Given the description of an element on the screen output the (x, y) to click on. 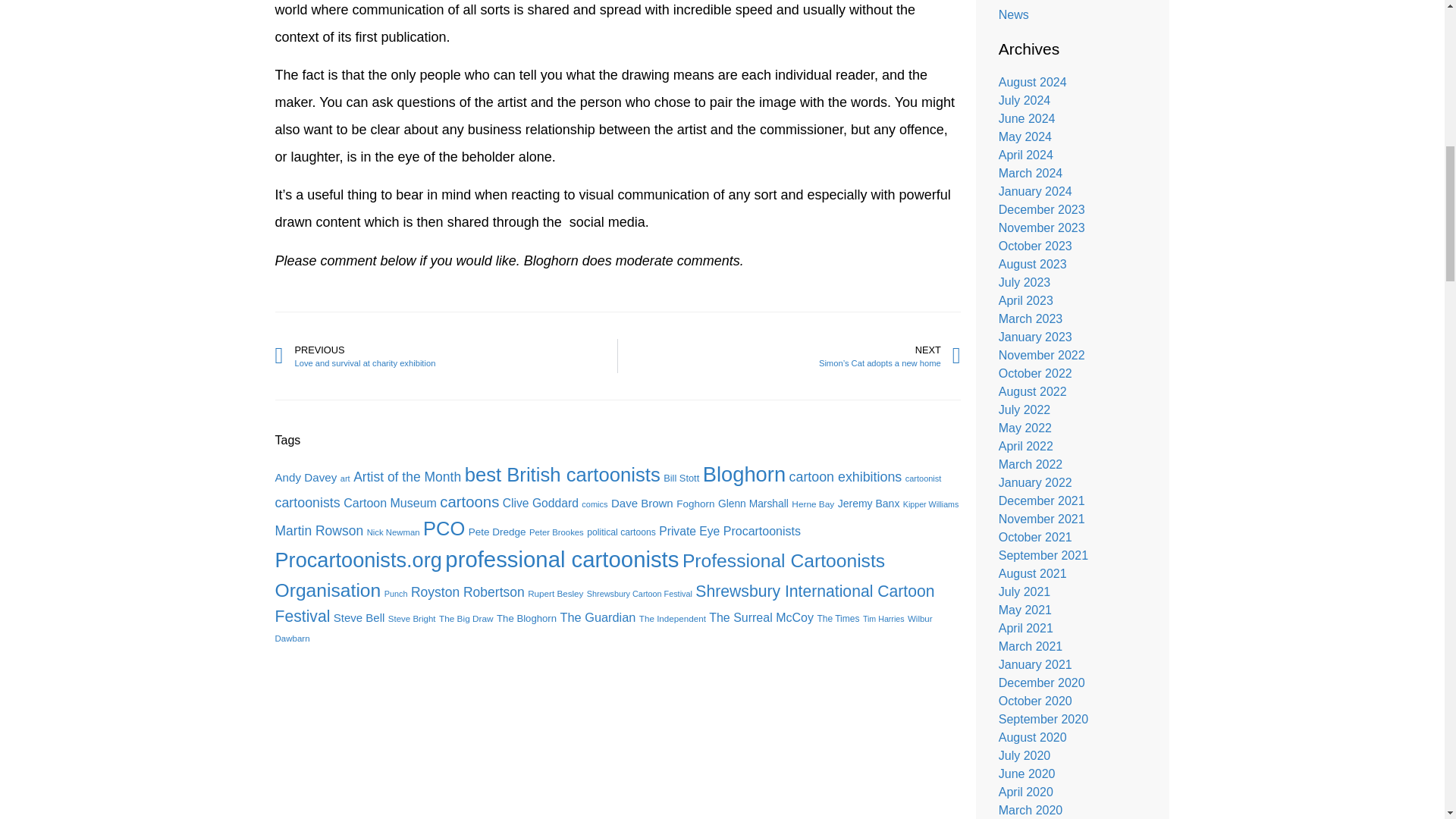
Bill Stott (680, 478)
art (345, 478)
best British cartoonists (562, 474)
Artist of the Month (407, 476)
Bloghorn (744, 474)
cartoon exhibitions (446, 356)
cartoonist (845, 476)
Andy Davey (923, 478)
